Given the description of an element on the screen output the (x, y) to click on. 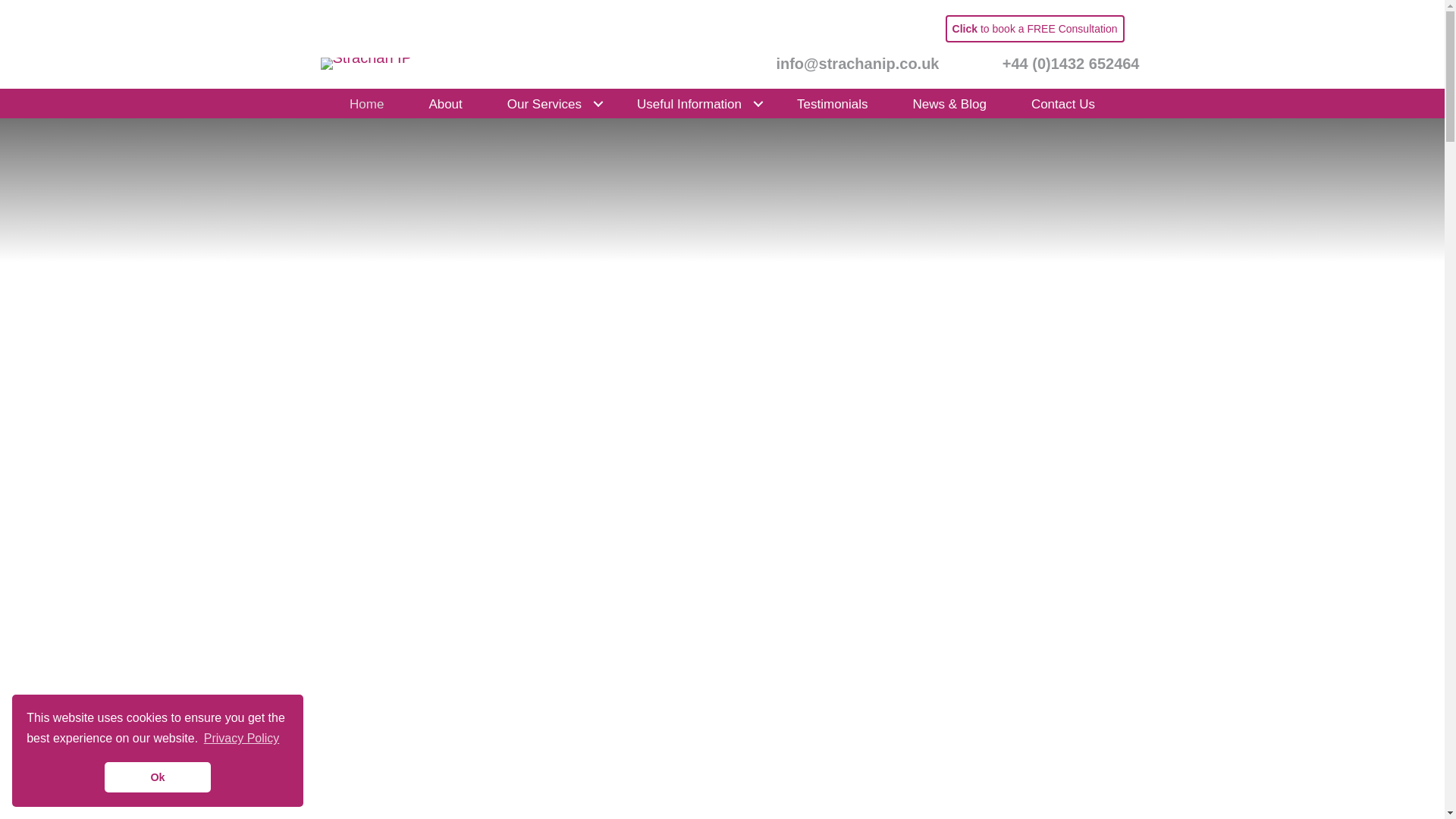
Ok (157, 777)
Contact Us (1062, 103)
Useful Information (694, 103)
Our Services (549, 103)
Testimonials (831, 103)
About (444, 103)
Home (366, 103)
Click to book a FREE Consultation (1034, 28)
Privacy Policy (242, 738)
